Given the description of an element on the screen output the (x, y) to click on. 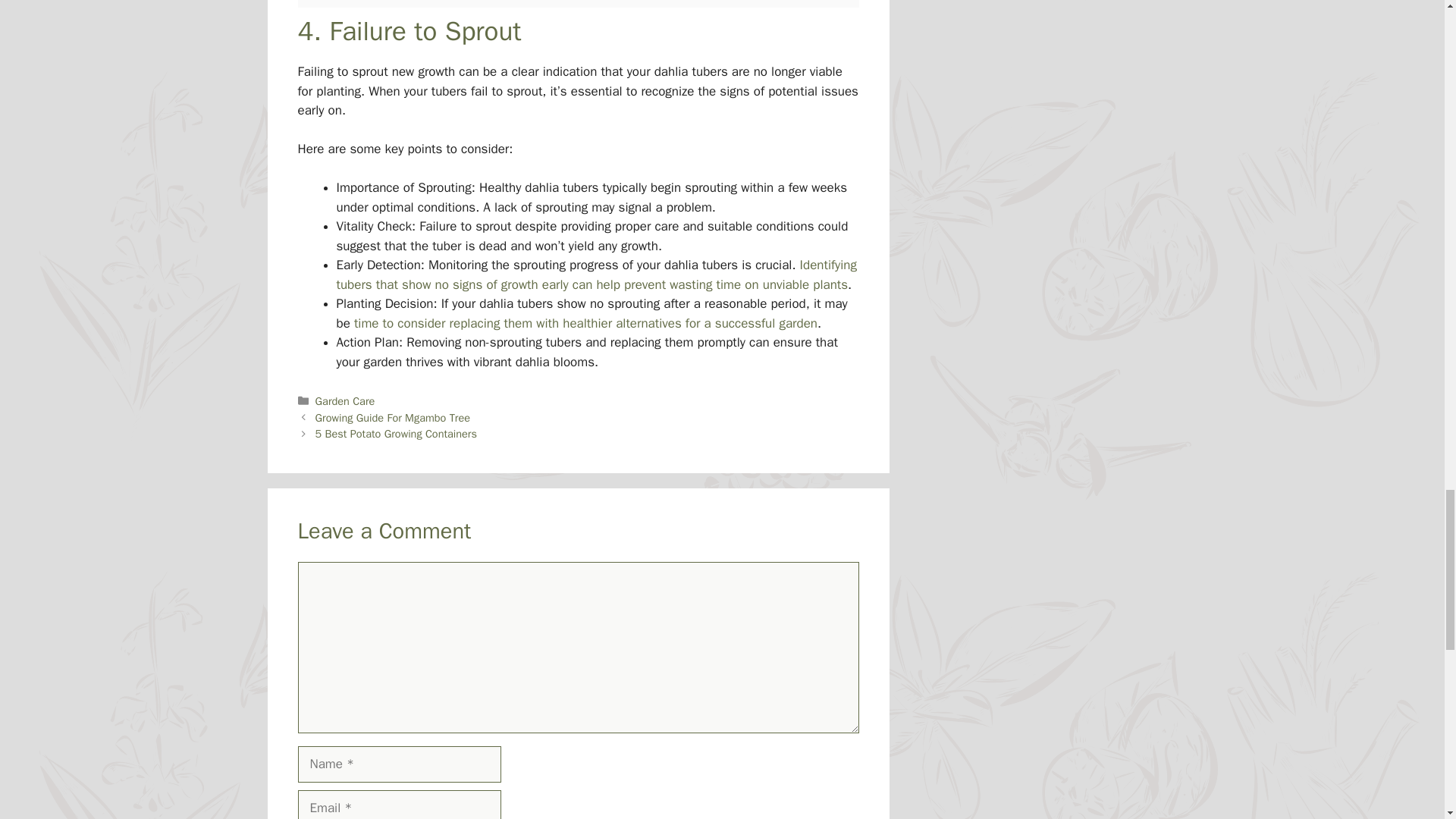
5 Best Potato Growing Containers (396, 433)
Garden Care (345, 400)
Growing Guide For Mgambo Tree (392, 418)
